Given the description of an element on the screen output the (x, y) to click on. 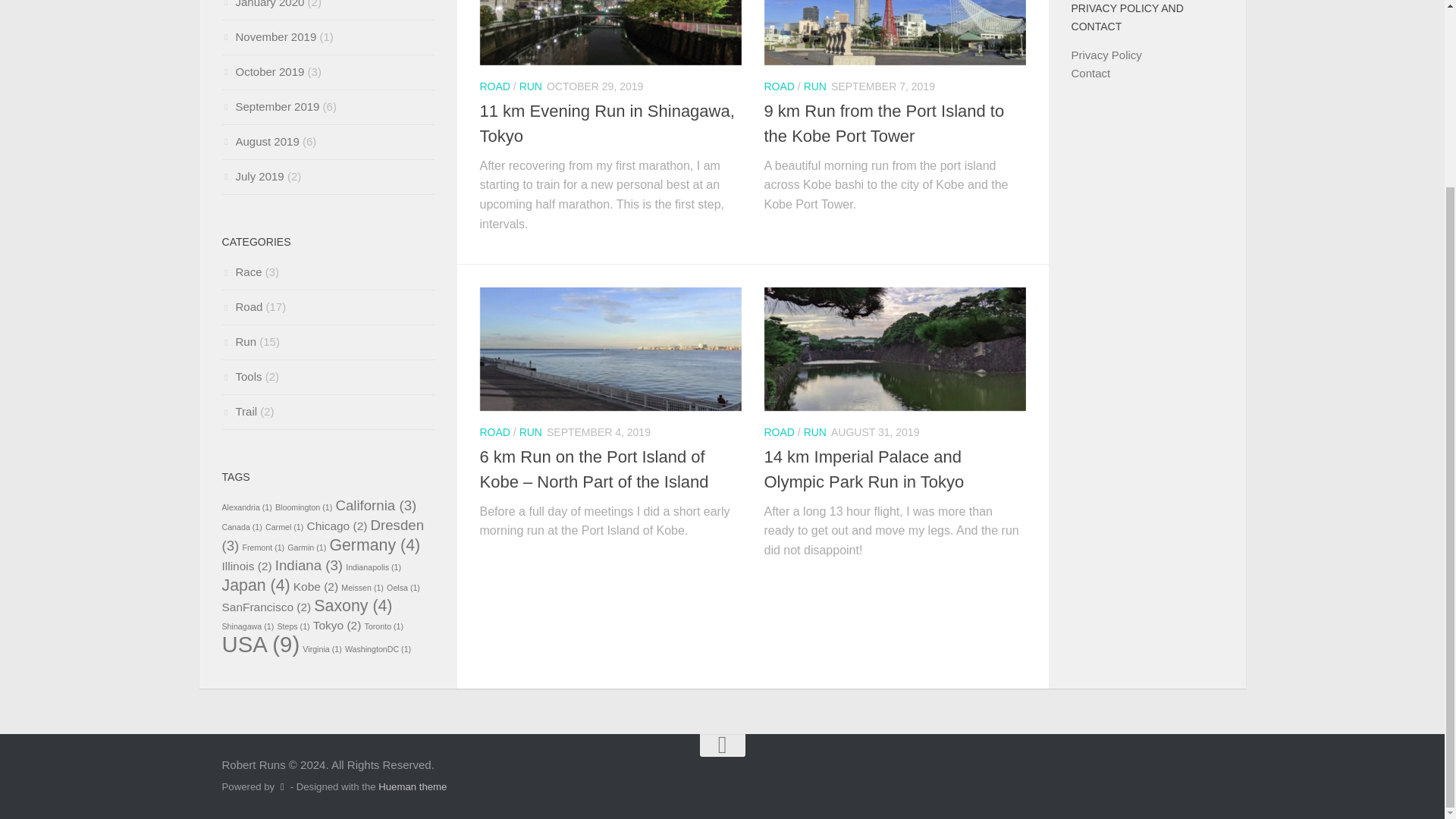
Race (241, 271)
Run (238, 341)
14 km Imperial Palace and Olympic Park Run in Tokyo (863, 469)
Hueman theme (412, 786)
Trail (239, 410)
August 2019 (259, 141)
RUN (815, 431)
July 2019 (252, 175)
Permalink to 11 km Evening Run in Shinagawa, Tokyo (606, 123)
September 2019 (269, 106)
RUN (530, 86)
ROAD (779, 86)
Powered by WordPress (282, 786)
ROAD (494, 431)
